Given the description of an element on the screen output the (x, y) to click on. 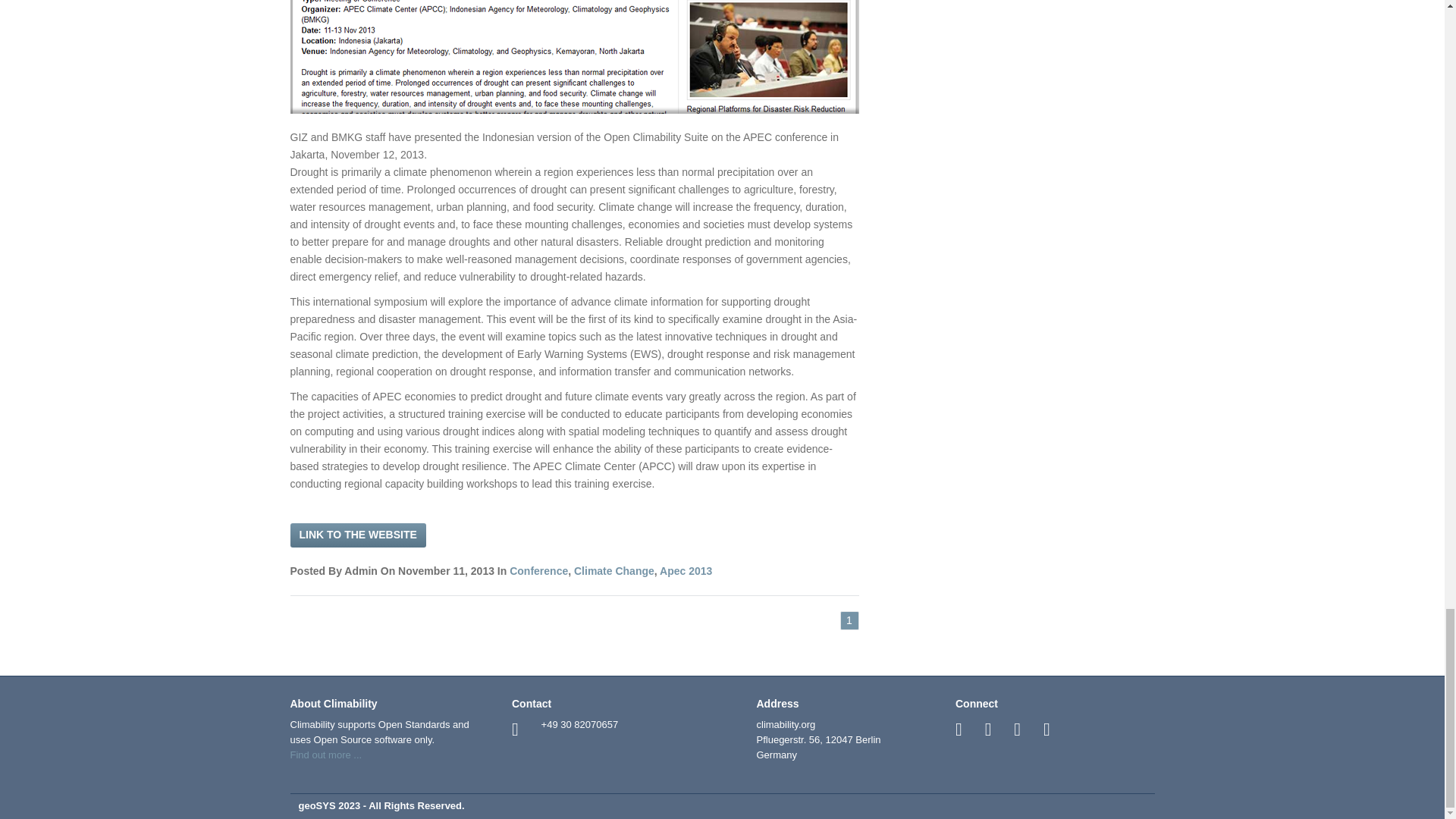
Conference (538, 571)
Climate Change (613, 571)
LINK TO THE WEBSITE (357, 535)
Apec 2013 (685, 571)
